Given the description of an element on the screen output the (x, y) to click on. 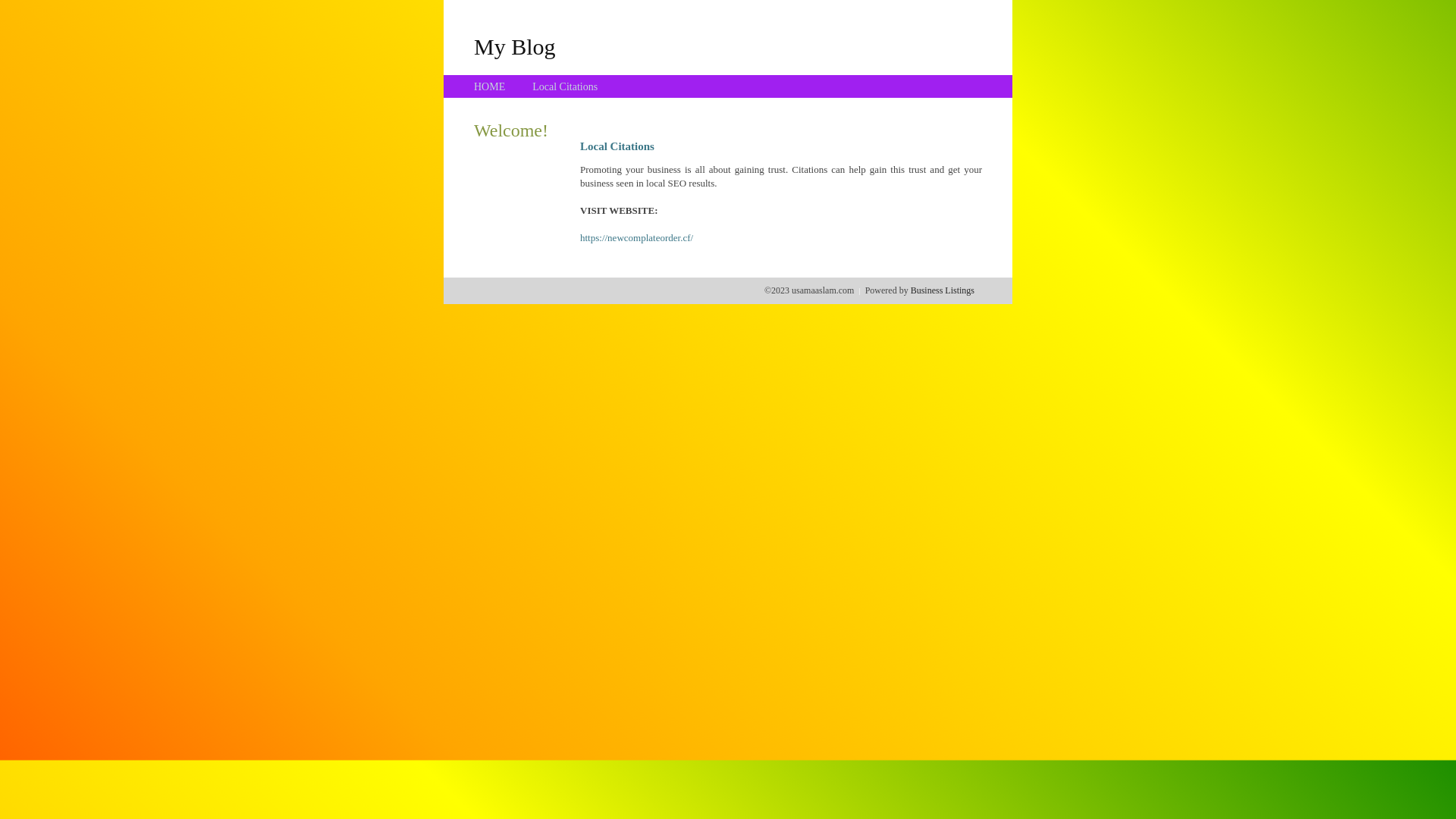
Business Listings Element type: text (942, 290)
Local Citations Element type: text (564, 86)
HOME Element type: text (489, 86)
My Blog Element type: text (514, 46)
https://newcomplateorder.cf/ Element type: text (636, 237)
